Given the description of an element on the screen output the (x, y) to click on. 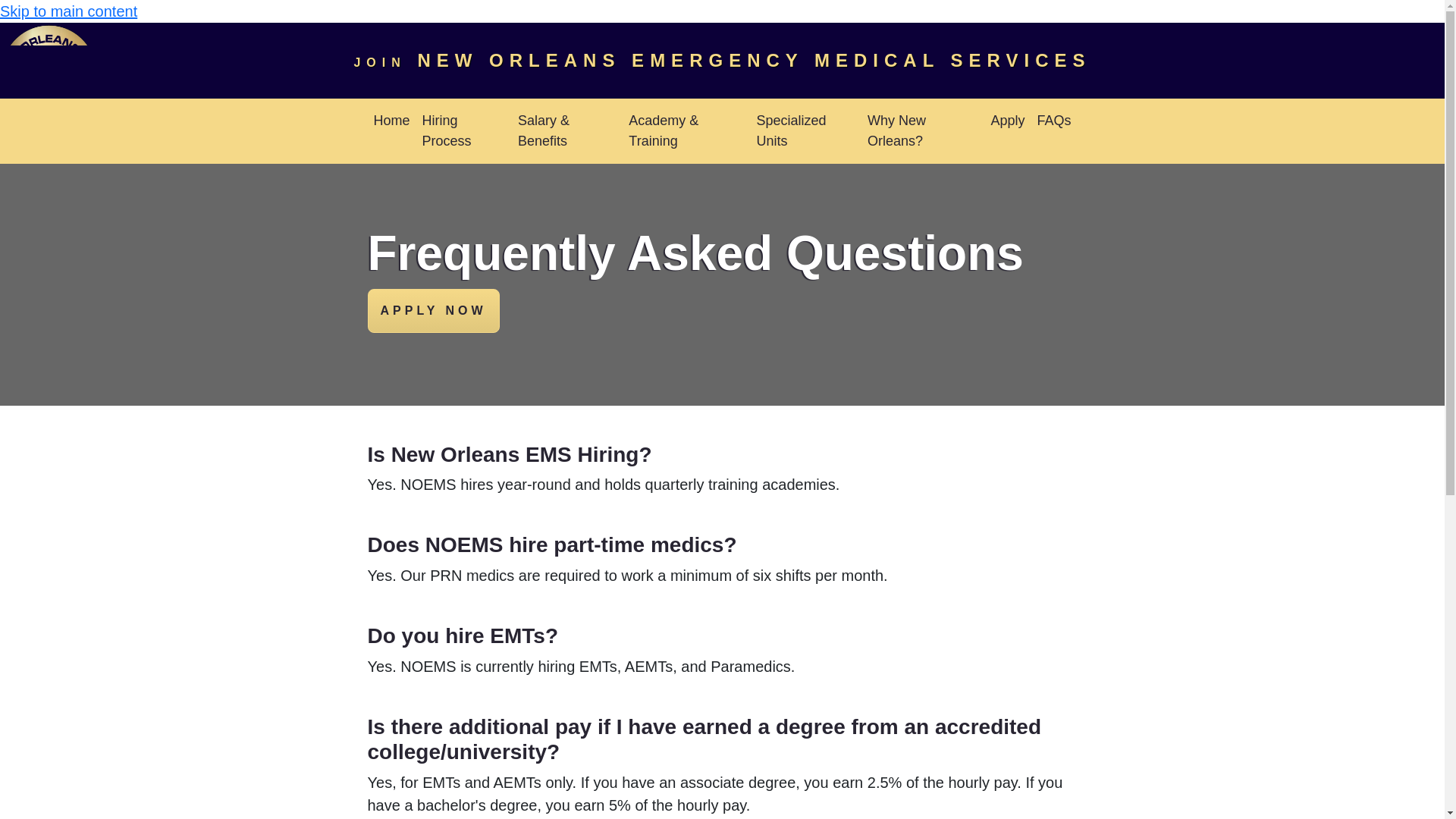
Home (390, 120)
Hiring Process (464, 131)
APPLY NOW (432, 310)
Specialized Units (806, 131)
FAQs (1053, 120)
Skip to main content (68, 11)
JOIN NEW ORLEANS EMERGENCY MEDICAL SERVICES (721, 60)
Apply (1007, 120)
Why New Orleans? (923, 131)
